Given the description of an element on the screen output the (x, y) to click on. 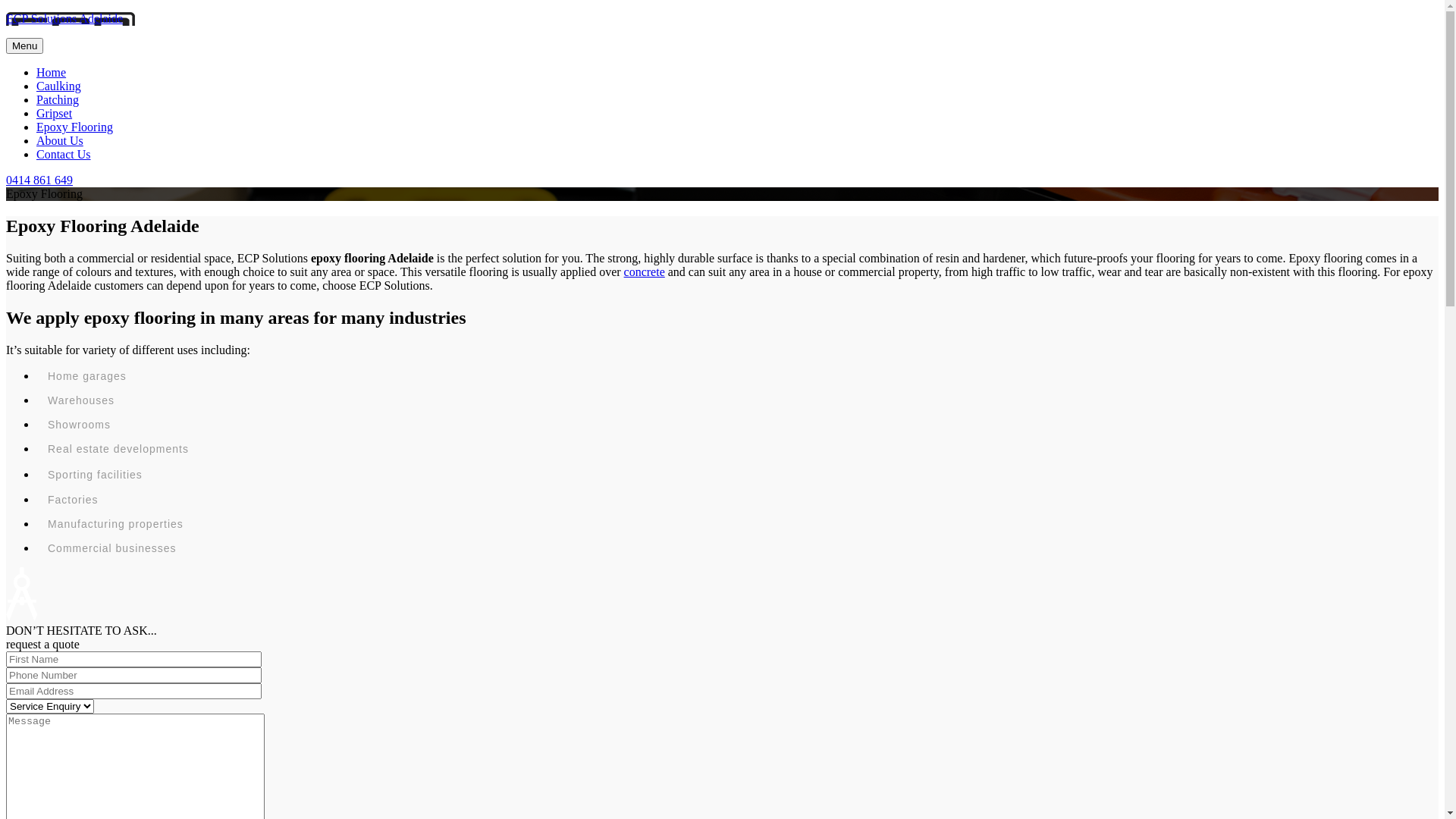
0414 861 649 Element type: text (39, 179)
About Us Element type: text (59, 140)
Patching Element type: text (57, 99)
Caulking Element type: text (58, 85)
Gripset Element type: text (54, 112)
Menu Element type: text (24, 45)
ECP Solutions Adelaide Element type: text (64, 18)
Home Element type: text (50, 71)
concrete Element type: text (644, 271)
Contact Us Element type: text (63, 153)
Epoxy Flooring Element type: text (74, 126)
